Given the description of an element on the screen output the (x, y) to click on. 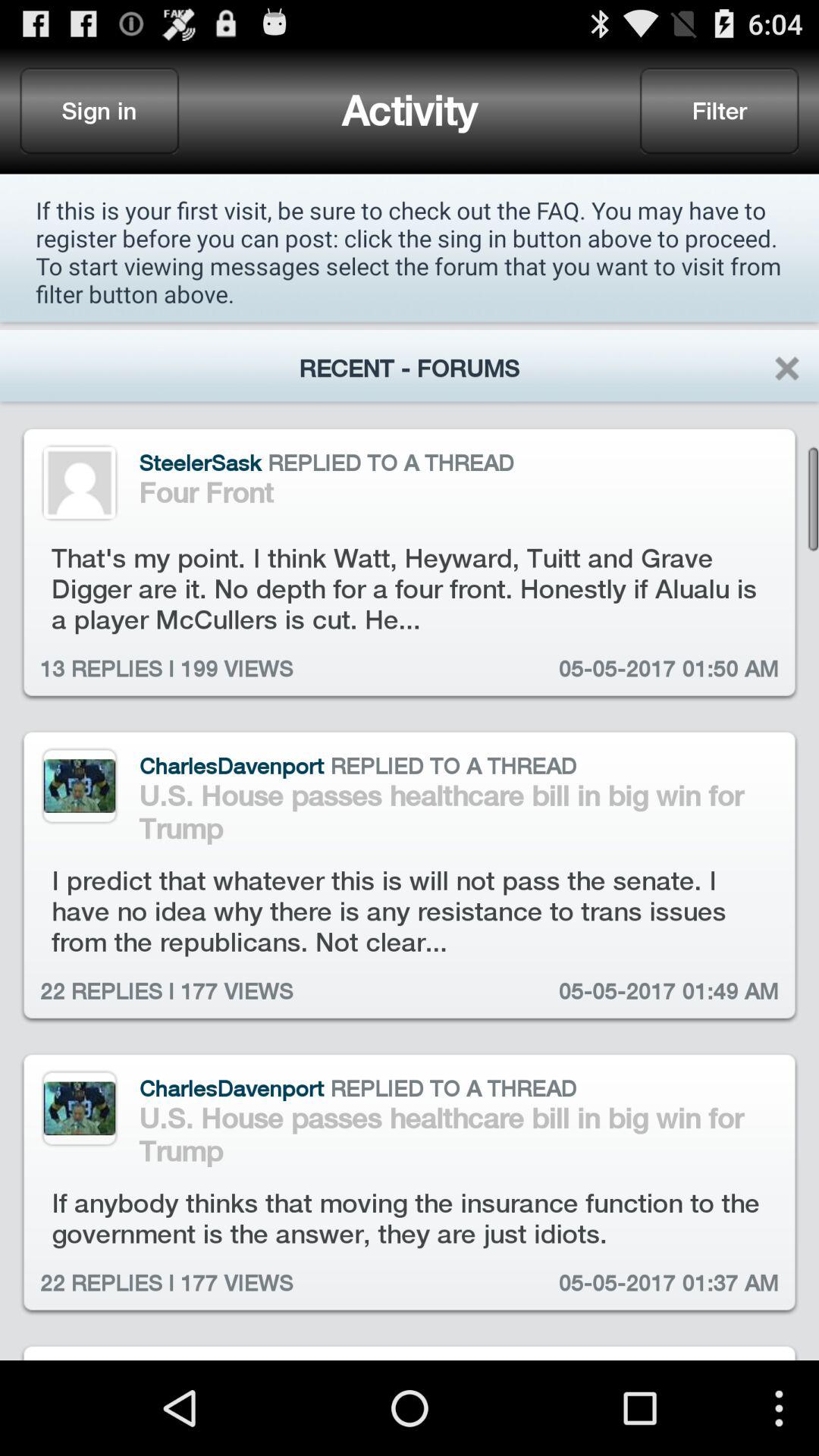
profile photo (79, 1108)
